Given the description of an element on the screen output the (x, y) to click on. 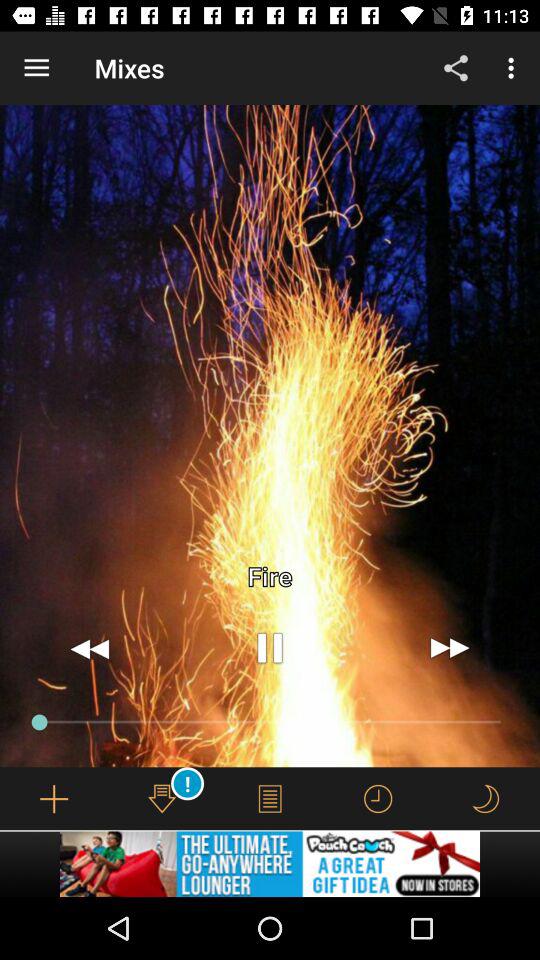
open advertisement (270, 864)
